Given the description of an element on the screen output the (x, y) to click on. 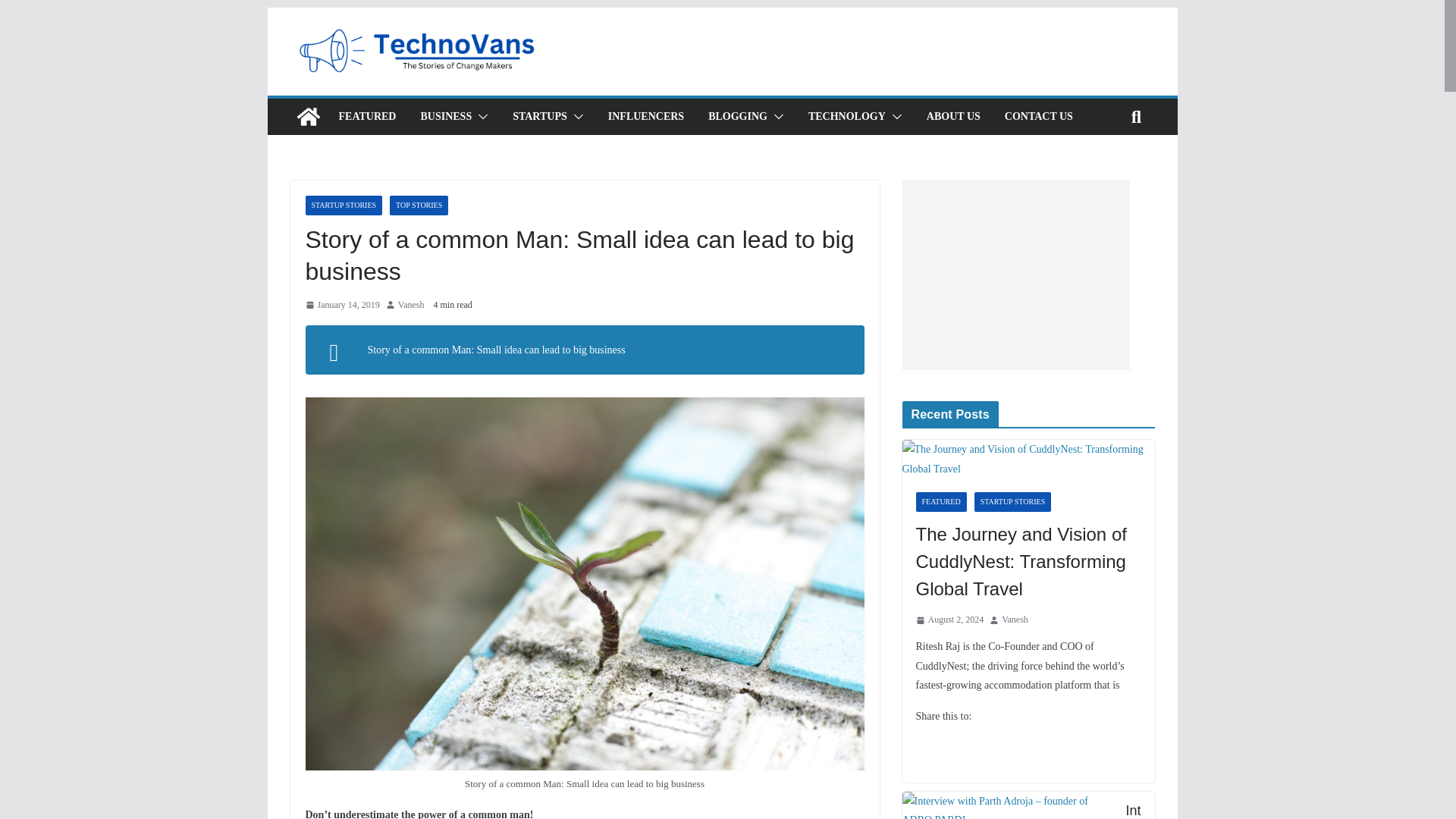
2:13 pm (341, 305)
STARTUP STORIES (342, 205)
ABOUT US (952, 116)
Vanesh (411, 305)
TECHNOLOGY (846, 116)
FEATURED (366, 116)
STARTUPS (539, 116)
TechnoVans (307, 116)
BUSINESS (445, 116)
Vanesh (411, 305)
